Given the description of an element on the screen output the (x, y) to click on. 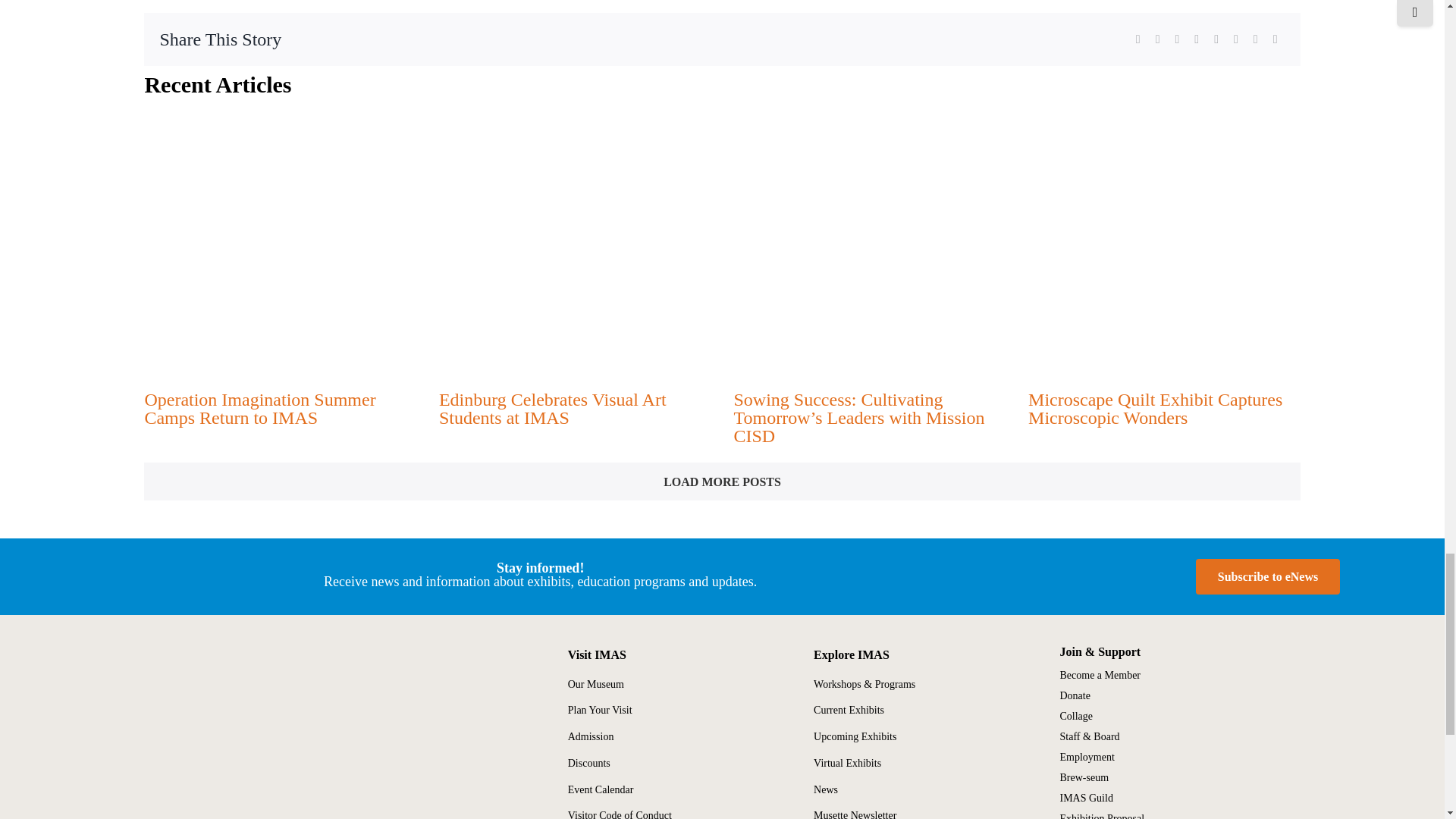
LinkedIn (1196, 39)
X (1157, 39)
WhatsApp (1216, 39)
Facebook (1138, 39)
Pinterest (1255, 39)
Tumblr (1235, 39)
Email (1275, 39)
Reddit (1176, 39)
